Given the description of an element on the screen output the (x, y) to click on. 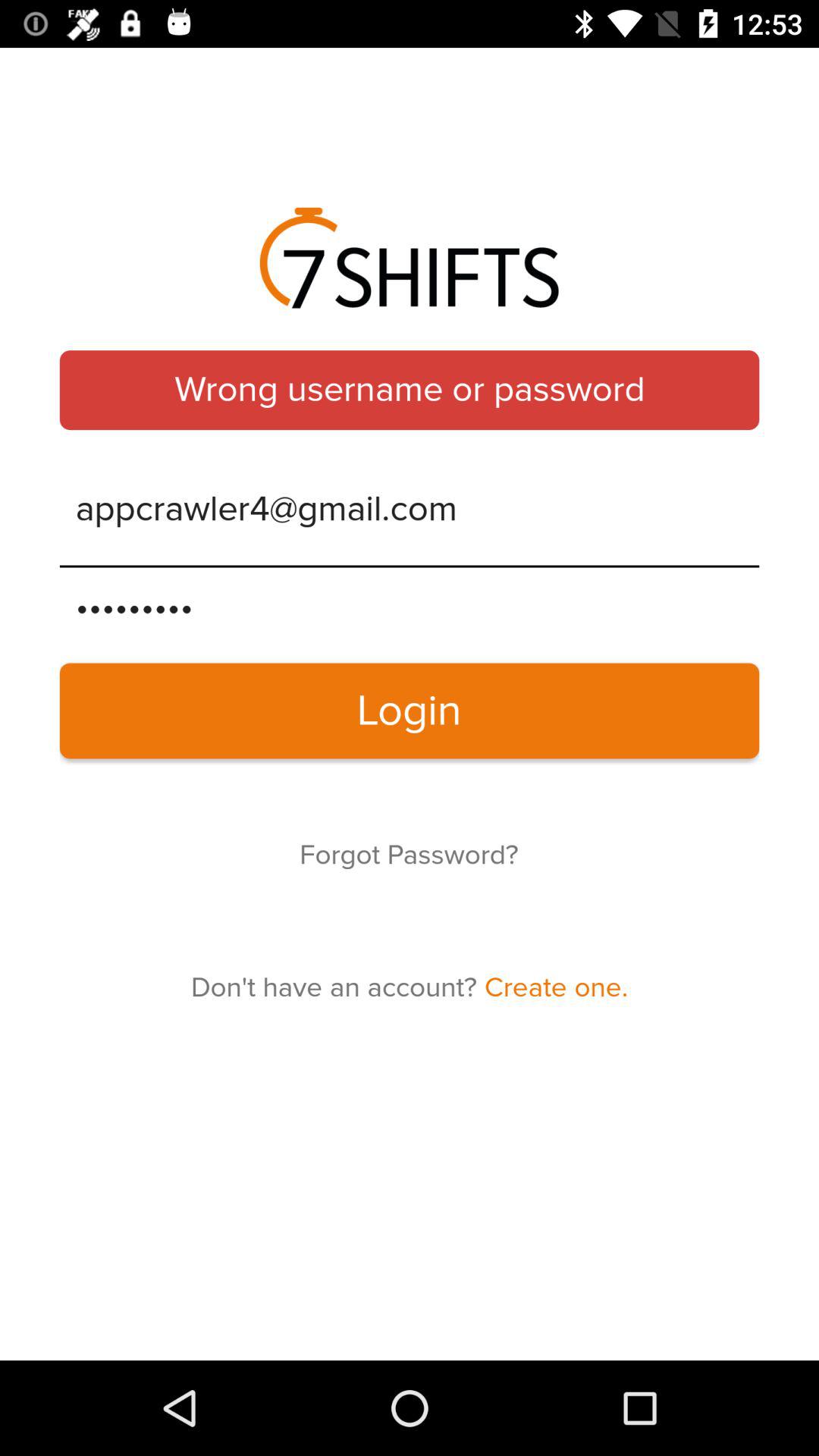
launch icon above don t have item (408, 854)
